Given the description of an element on the screen output the (x, y) to click on. 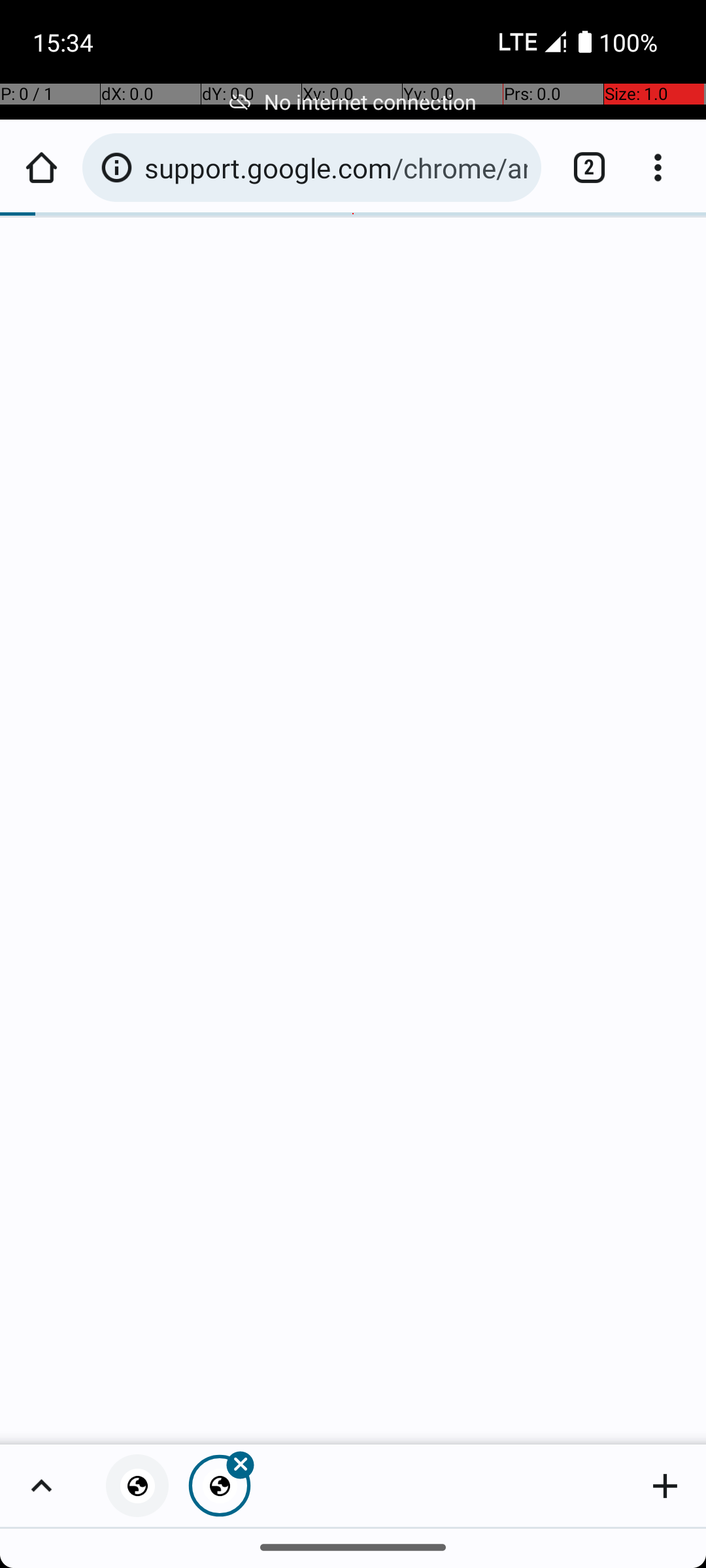
Show group's tabs in fullscreen grid Element type: android.widget.ImageView (41, 1485)
Add new tab to group Element type: android.widget.ImageView (664, 1485)
support.google.com/chrome/answer/6098869#-201 Element type: android.widget.EditText (335, 167)
Privacy error, tab Element type: android.widget.ImageButton (137, 1485)
Close  tab Element type: android.widget.ImageButton (219, 1485)
